Given the description of an element on the screen output the (x, y) to click on. 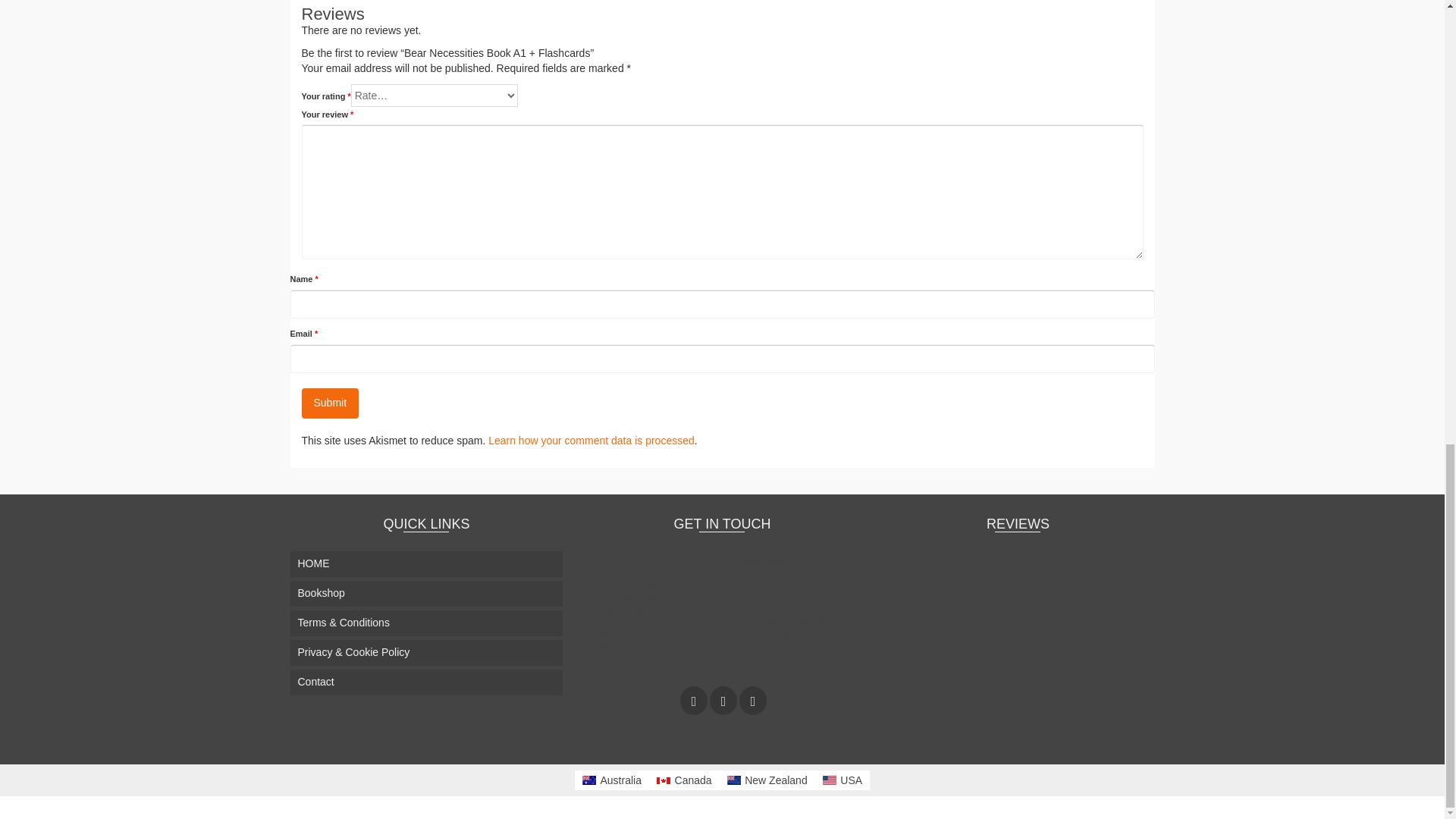
Facebook (693, 700)
Instagram (723, 700)
Submit (330, 403)
